Given the description of an element on the screen output the (x, y) to click on. 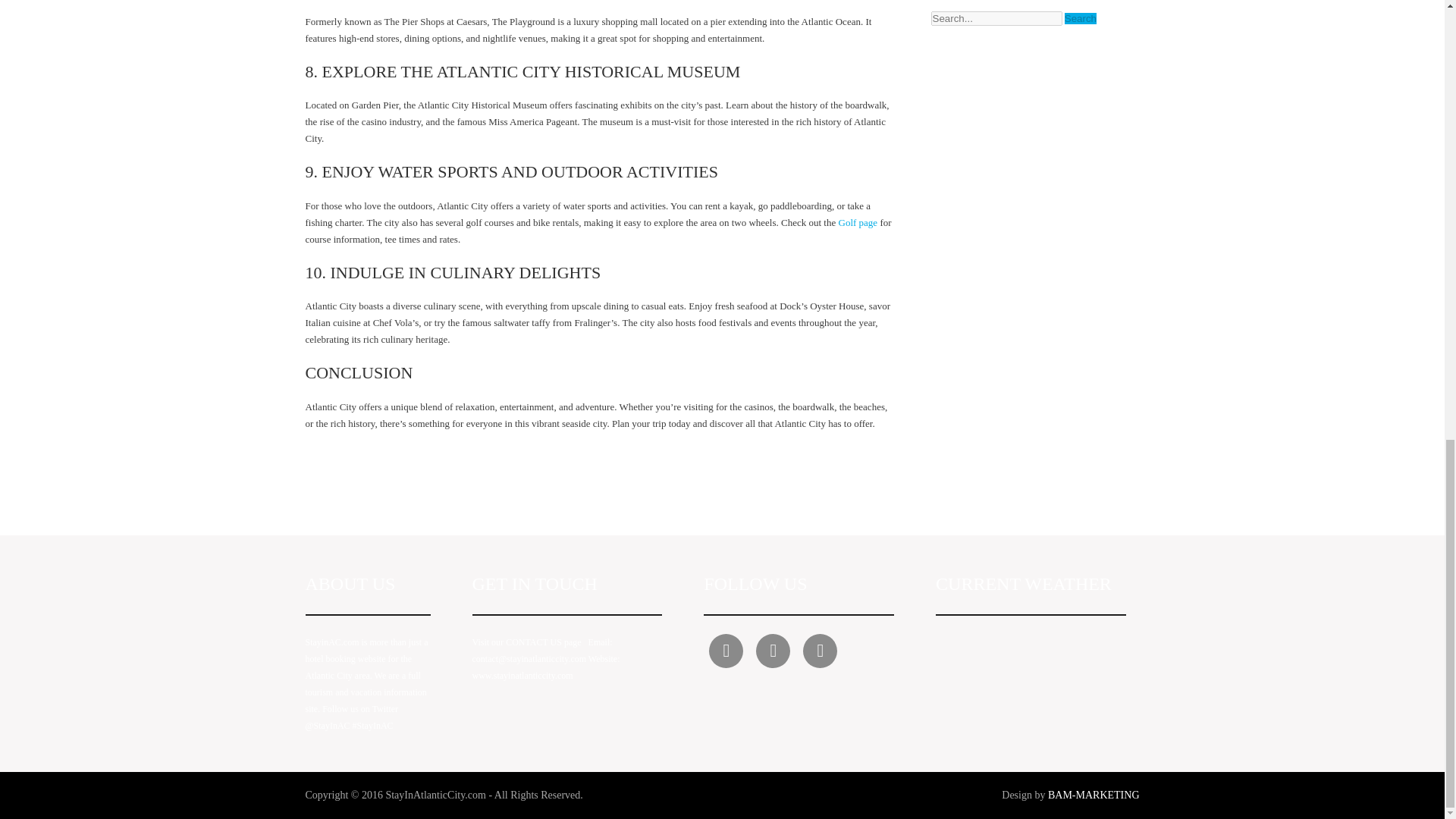
Search (1080, 18)
Search (1080, 18)
BAM-MARKETING (1094, 794)
twitter (725, 650)
StayinAC.com (331, 642)
Golf page (859, 222)
youtube (772, 650)
Search (1080, 18)
instagram (820, 650)
CONTACT US (533, 642)
